Given the description of an element on the screen output the (x, y) to click on. 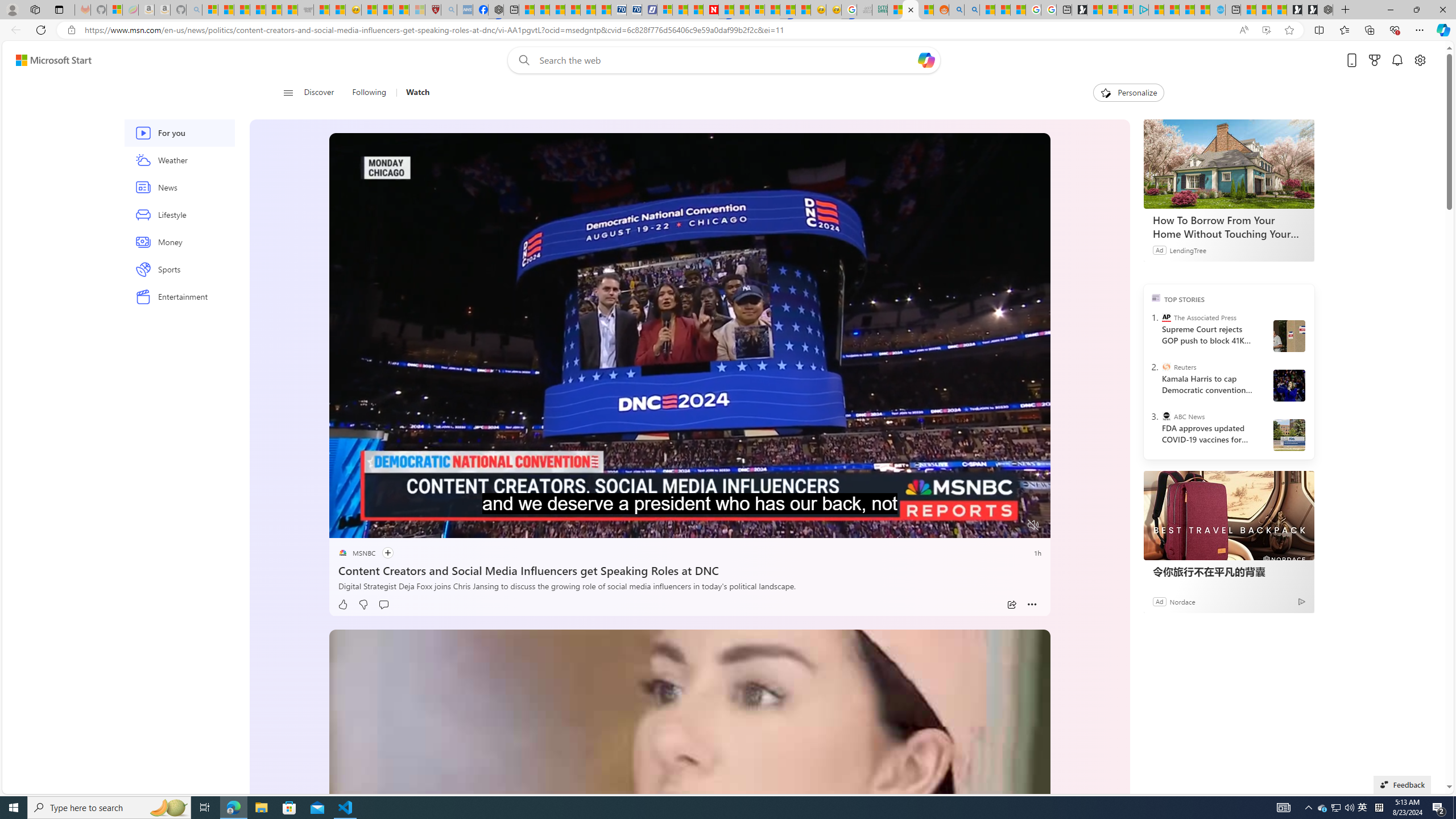
Class: at-item inline-watch (1031, 604)
